Given the description of an element on the screen output the (x, y) to click on. 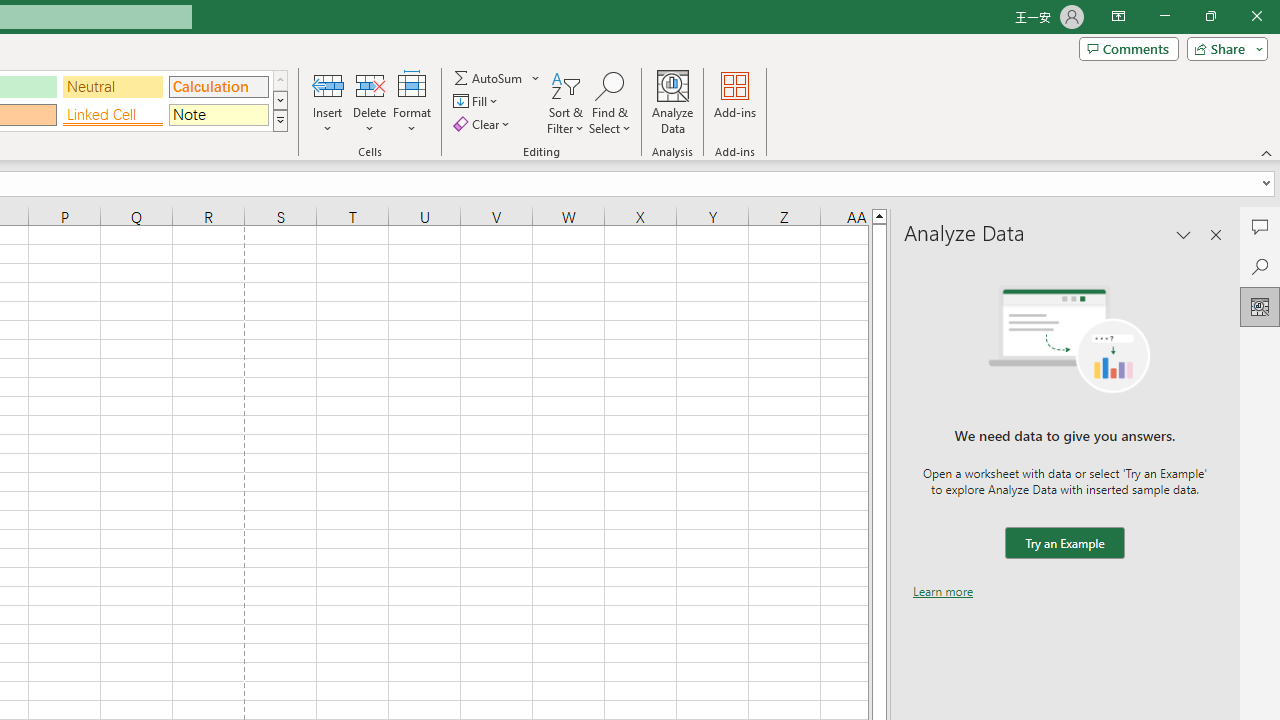
Find & Select (610, 102)
Clear (483, 124)
Calculation (218, 86)
Analyze Data (1260, 306)
Analyze Data (673, 102)
Format (411, 102)
Class: NetUIImage (280, 120)
